Given the description of an element on the screen output the (x, y) to click on. 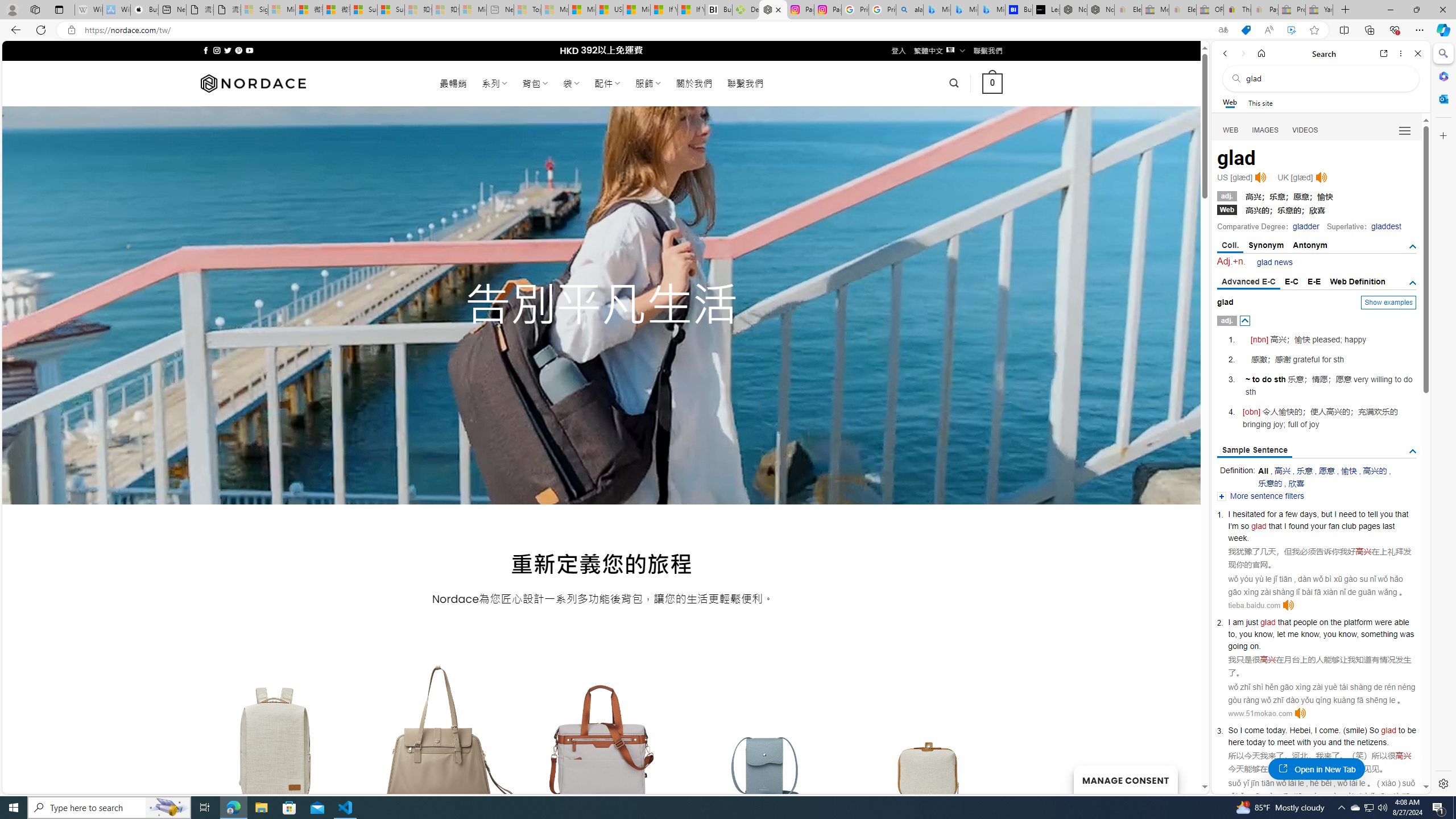
found (1298, 525)
. (1285, 729)
So (1373, 729)
